Given the description of an element on the screen output the (x, y) to click on. 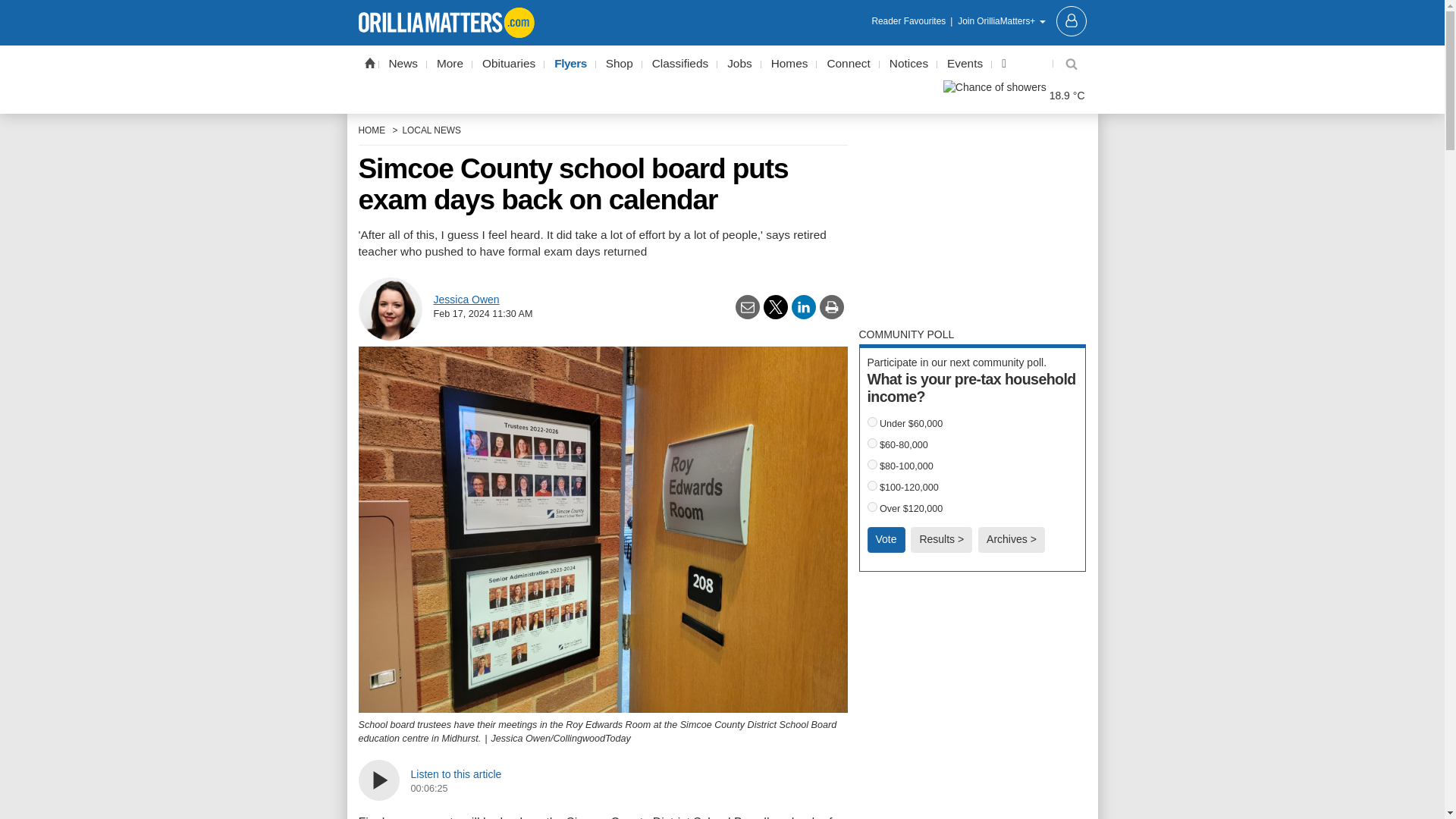
121933 (872, 464)
121934 (872, 485)
121931 (872, 421)
121935 (872, 506)
News (403, 64)
121932 (872, 442)
Reader Favourites (912, 21)
Home (368, 62)
